Given the description of an element on the screen output the (x, y) to click on. 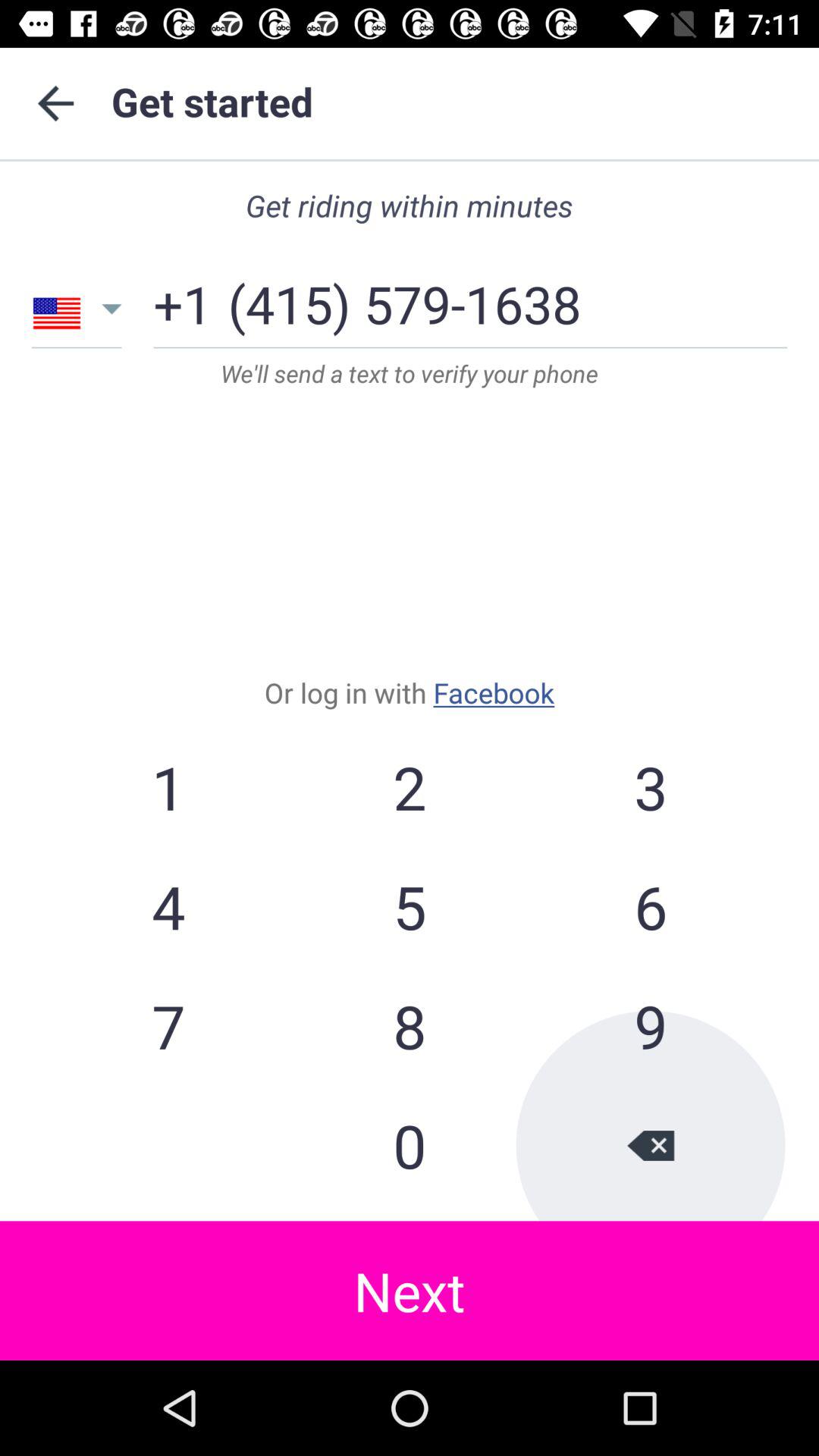
scroll until 5 (409, 906)
